Given the description of an element on the screen output the (x, y) to click on. 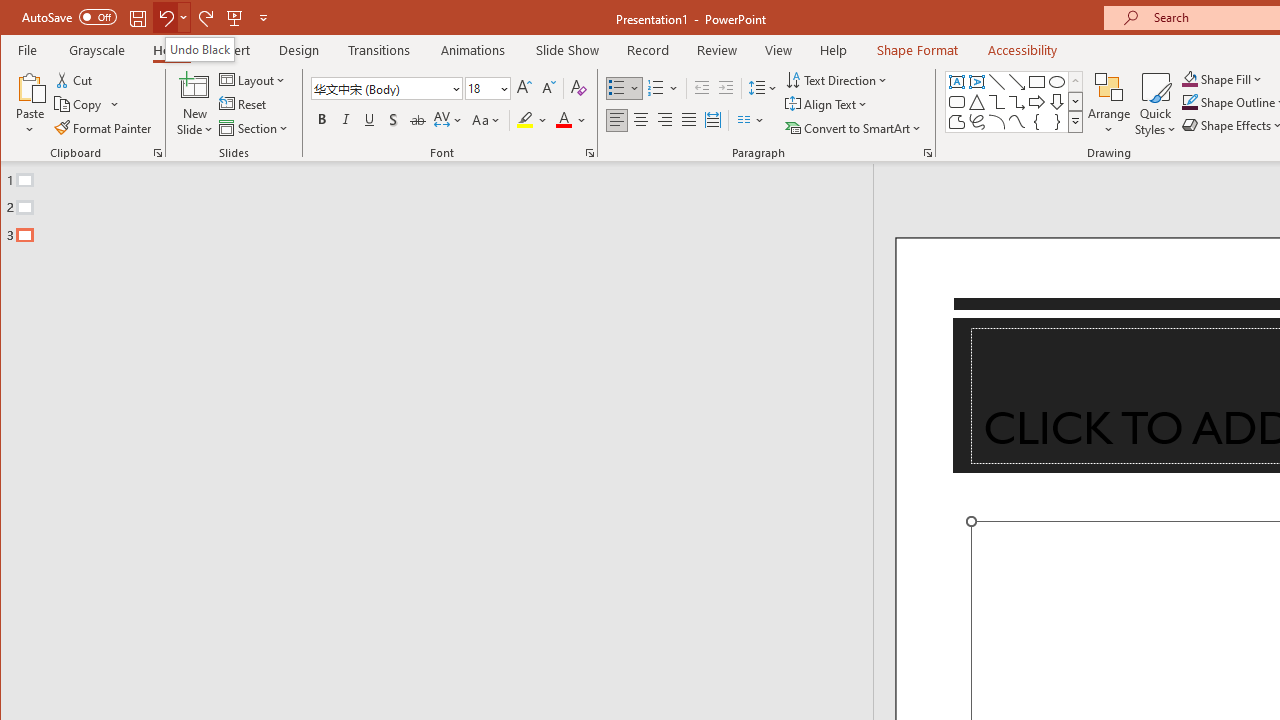
Decrease Font Size (548, 88)
Office Clipboard... (157, 152)
Font Color Red (563, 119)
Font Color (571, 119)
Font Size (480, 88)
AutomationID: ShapesInsertGallery (1014, 102)
Justify (689, 119)
Center (640, 119)
Paragraph... (927, 152)
Align Text (828, 103)
Isosceles Triangle (976, 102)
